Given the description of an element on the screen output the (x, y) to click on. 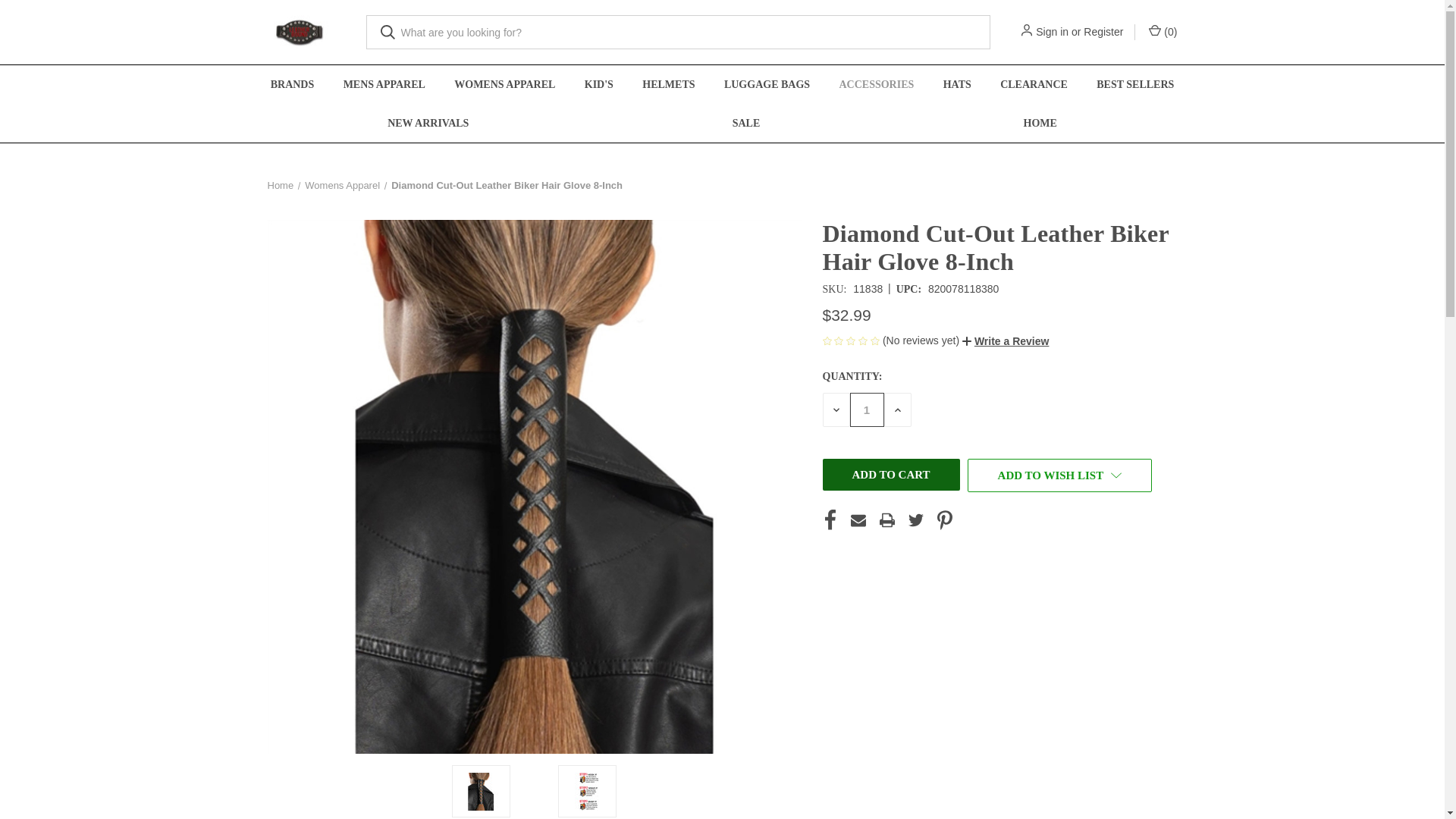
Print (887, 519)
Pinterest (944, 519)
Twitter (915, 519)
Email (858, 519)
BRANDS (292, 84)
1 (865, 409)
Facebook (829, 519)
Leather Bound (298, 32)
Add to Cart (890, 474)
Sign in (1051, 32)
Diamond Cut-Out Leather Biker Hair Glove 8-Inch (588, 791)
Diamond Cut-Out Black Leather Biker Hair Glove 8-Inch (480, 791)
Register (1102, 32)
